Given the description of an element on the screen output the (x, y) to click on. 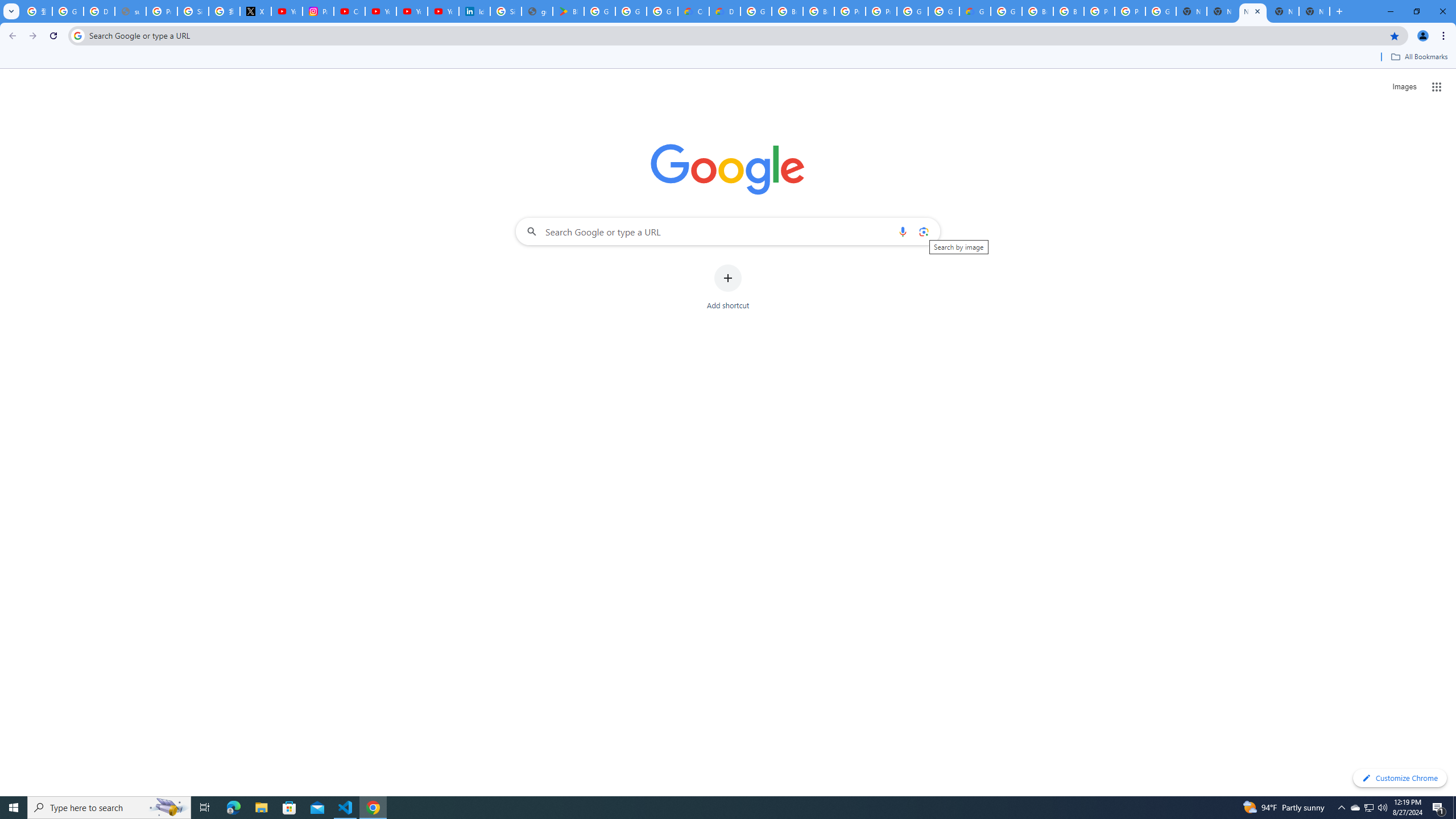
Add shortcut (727, 287)
